Given the description of an element on the screen output the (x, y) to click on. 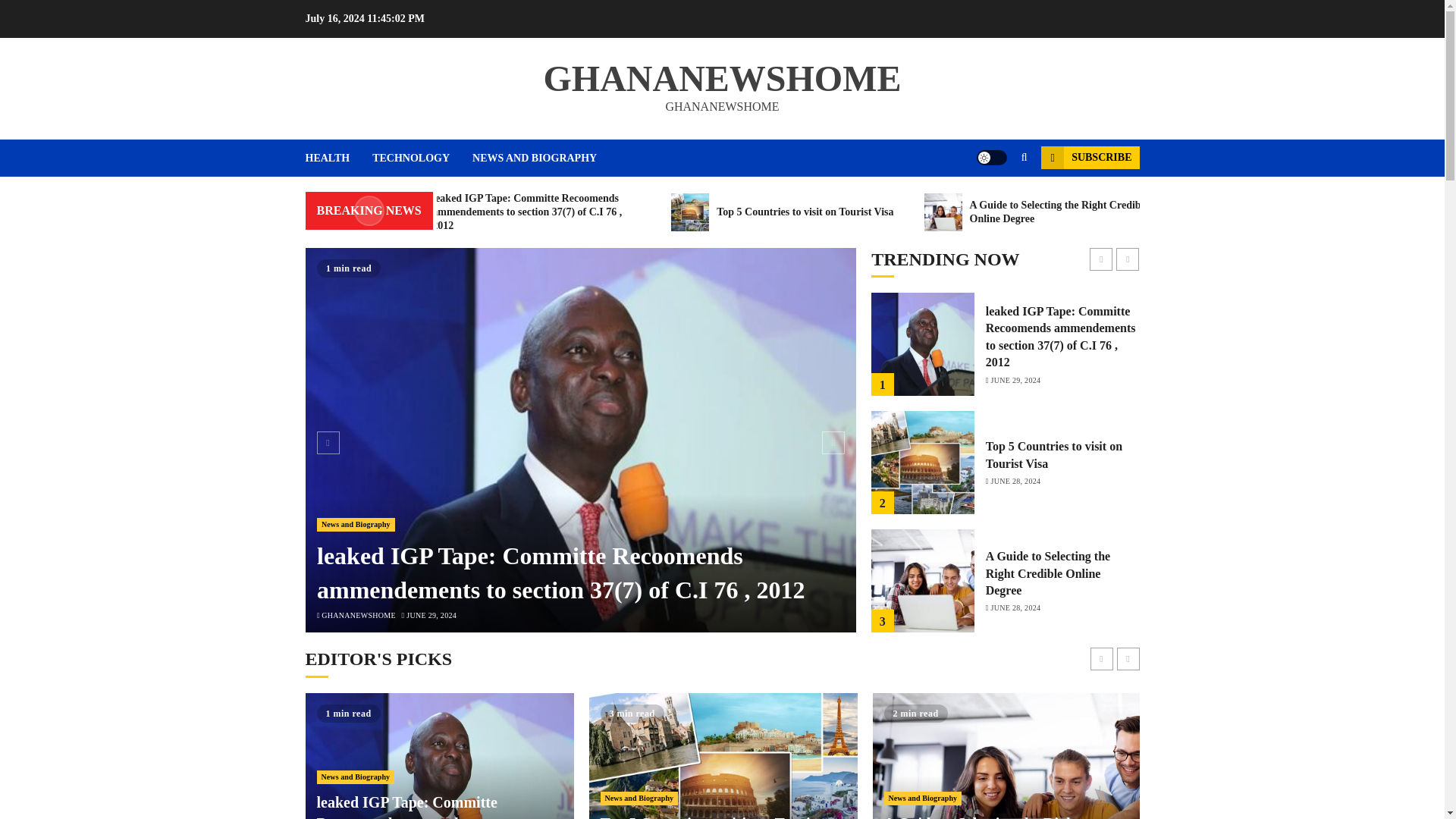
GHANANEWSHOME (358, 615)
A Guide to Selecting the Right Credible Online Degree (1108, 211)
JUNE 29, 2024 (431, 615)
TECHNOLOGY (421, 157)
Search (994, 203)
HEALTH (338, 157)
SUBSCRIBE (1089, 157)
GHANANEWSHOME (722, 78)
Top 5 Countries to visit on Tourist Visa (840, 211)
News and Biography (355, 524)
NEWS AND BIOGRAPHY (533, 157)
